Given the description of an element on the screen output the (x, y) to click on. 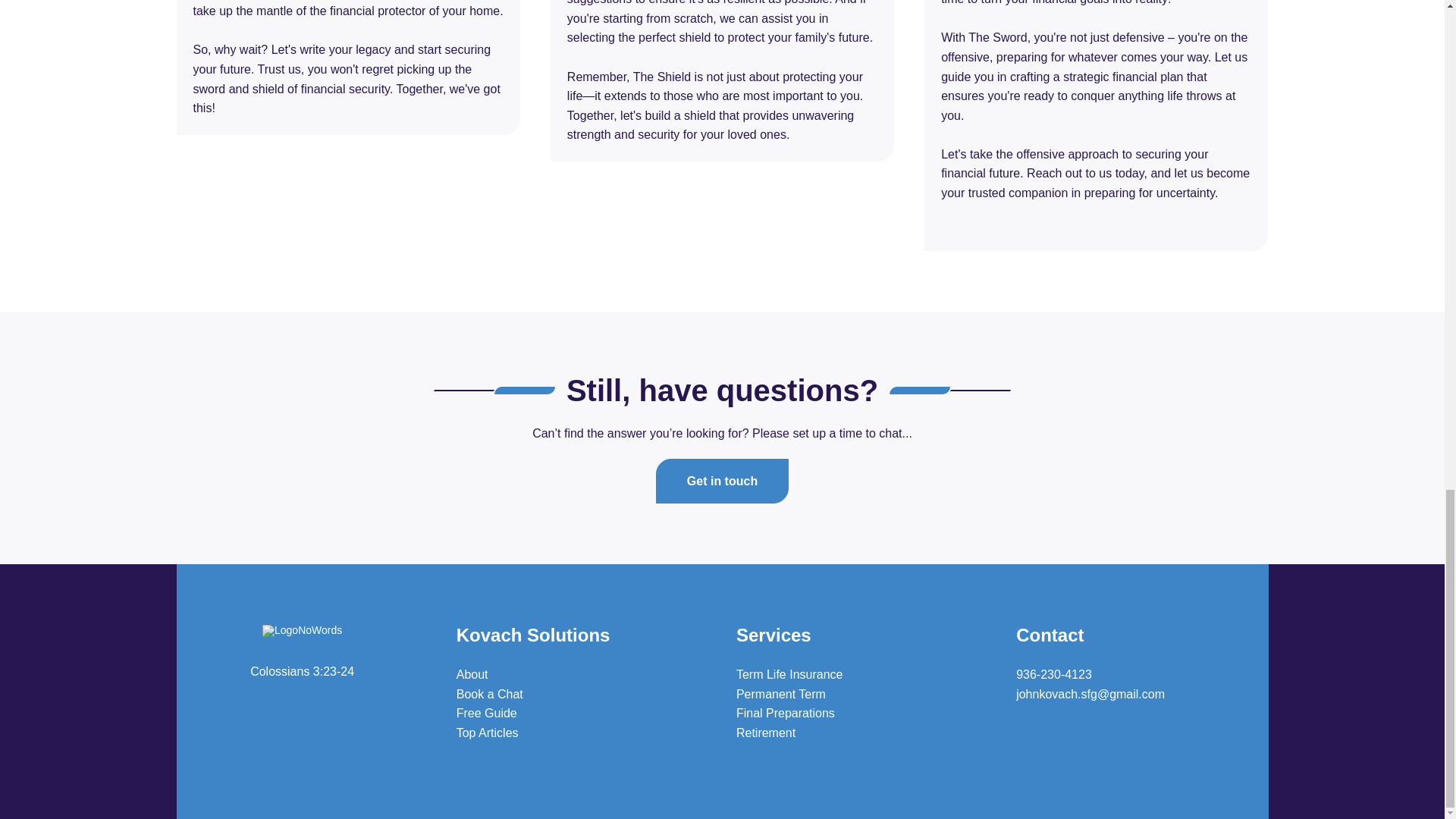
Book a Chat (489, 694)
Top Articles (487, 732)
Get in touch (722, 481)
Free Guide (486, 712)
LogoNoWords (302, 630)
About (472, 674)
Term Life Insurance (789, 674)
